Given the description of an element on the screen output the (x, y) to click on. 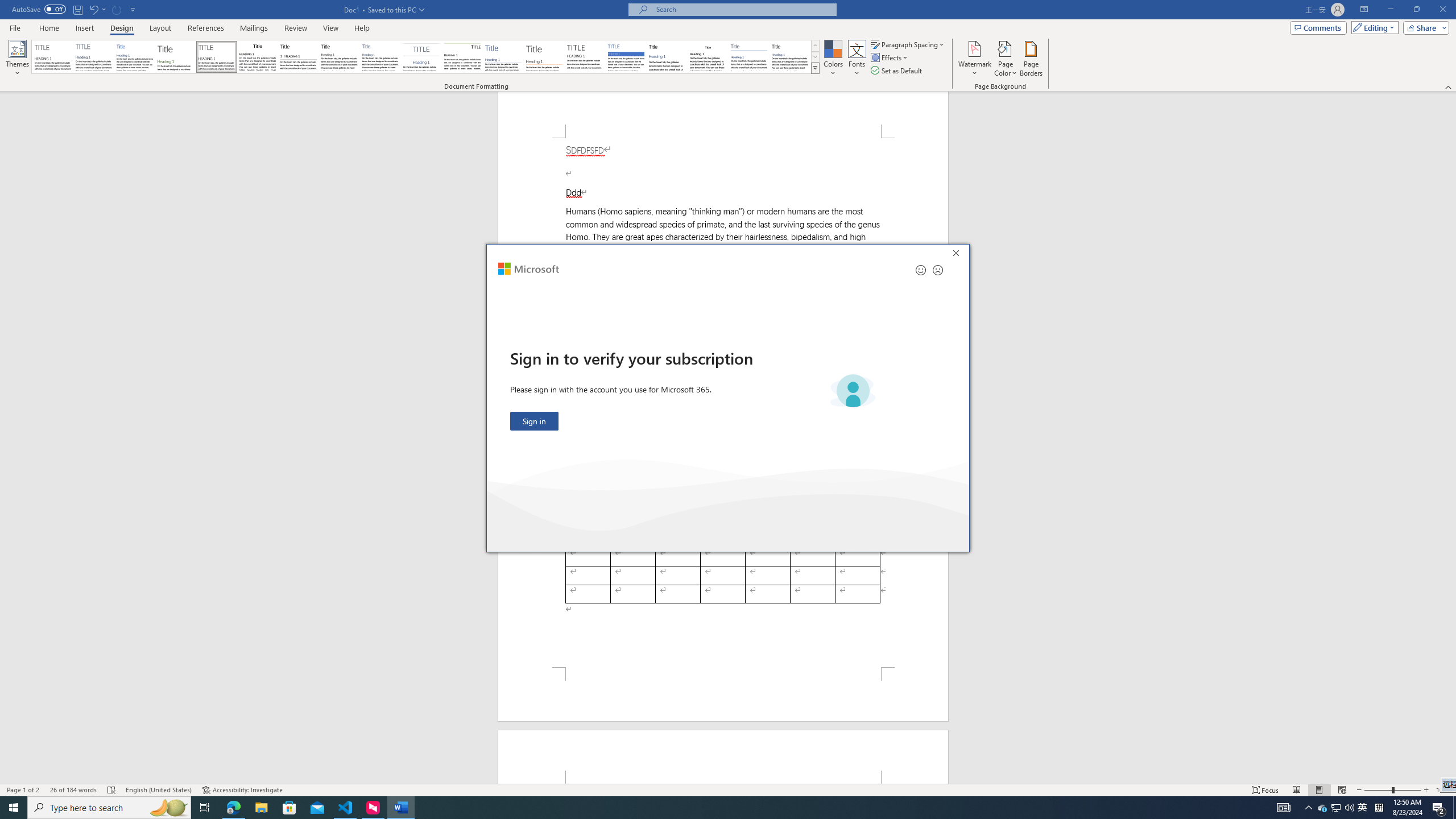
Running applications (700, 807)
Minimalist (584, 56)
Black & White (Classic) (257, 56)
Can't Repeat (117, 9)
Colors (832, 58)
Word 2010 (749, 56)
Black & White (Numbered) (298, 56)
Watermark (974, 58)
Zoom 100% (1443, 790)
